Given the description of an element on the screen output the (x, y) to click on. 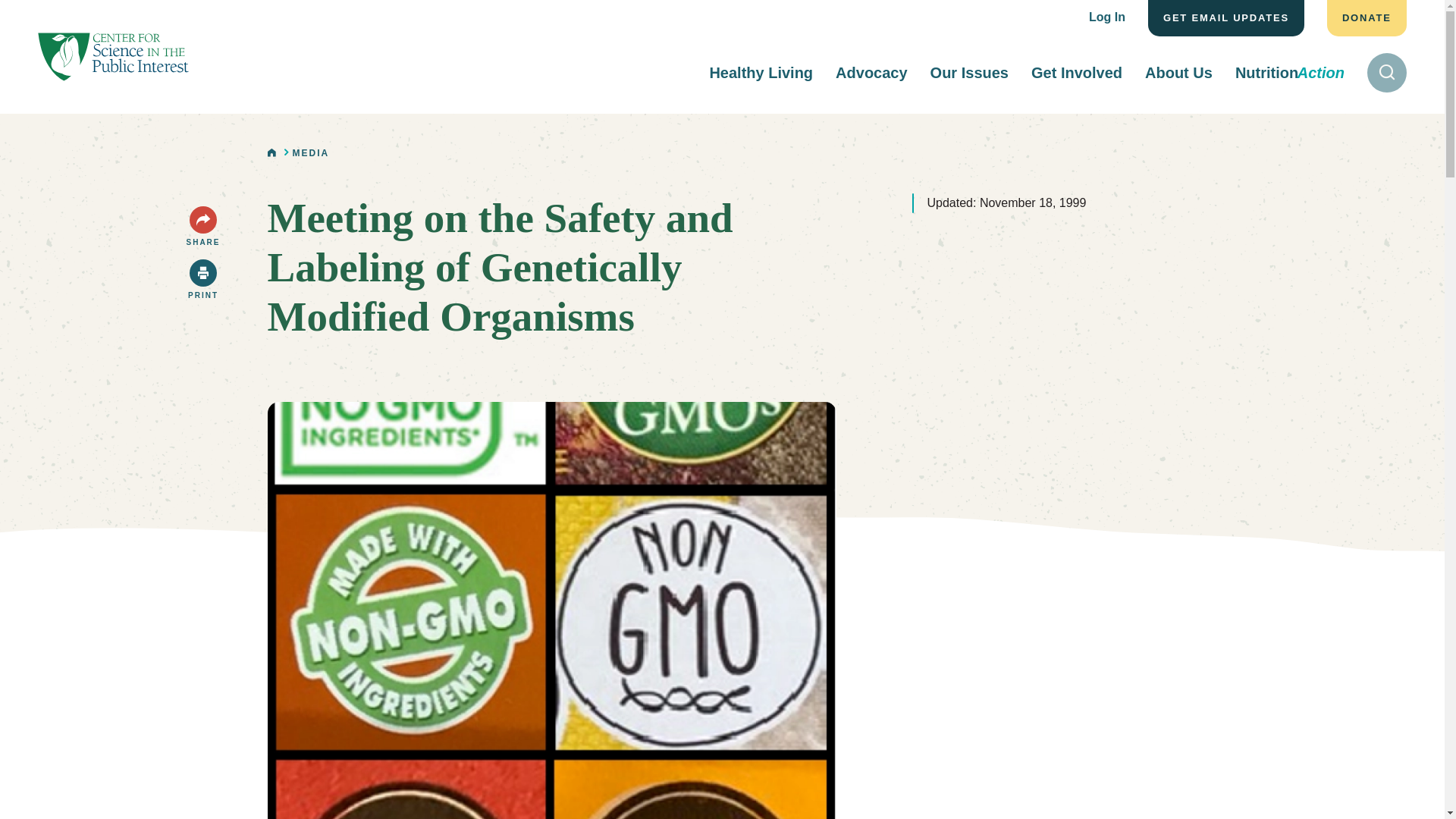
Healthy Living (760, 72)
GET EMAIL UPDATES (1226, 18)
Advocacy (871, 72)
Log In (1107, 18)
DONATE (1366, 18)
SKIP TO MAIN CONTENT (22, 14)
